Given the description of an element on the screen output the (x, y) to click on. 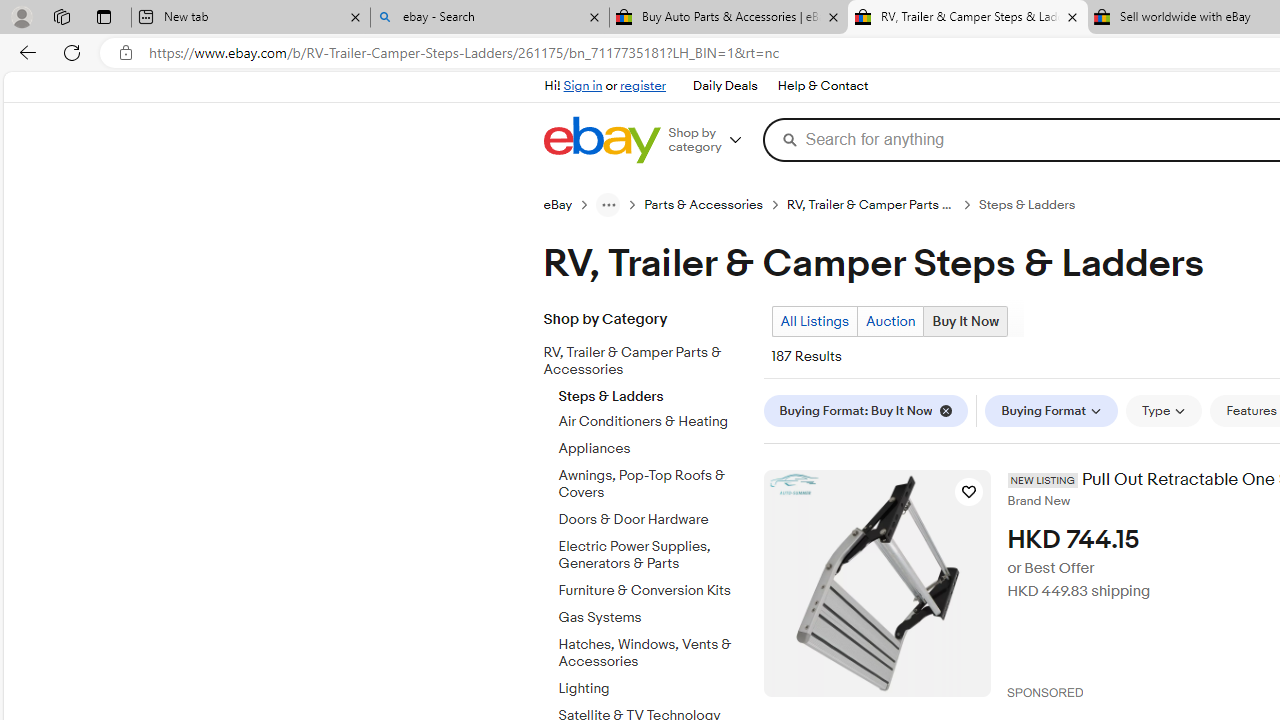
breadcrumb menu (608, 204)
Air Conditioners & Heating (653, 418)
